Given the description of an element on the screen output the (x, y) to click on. 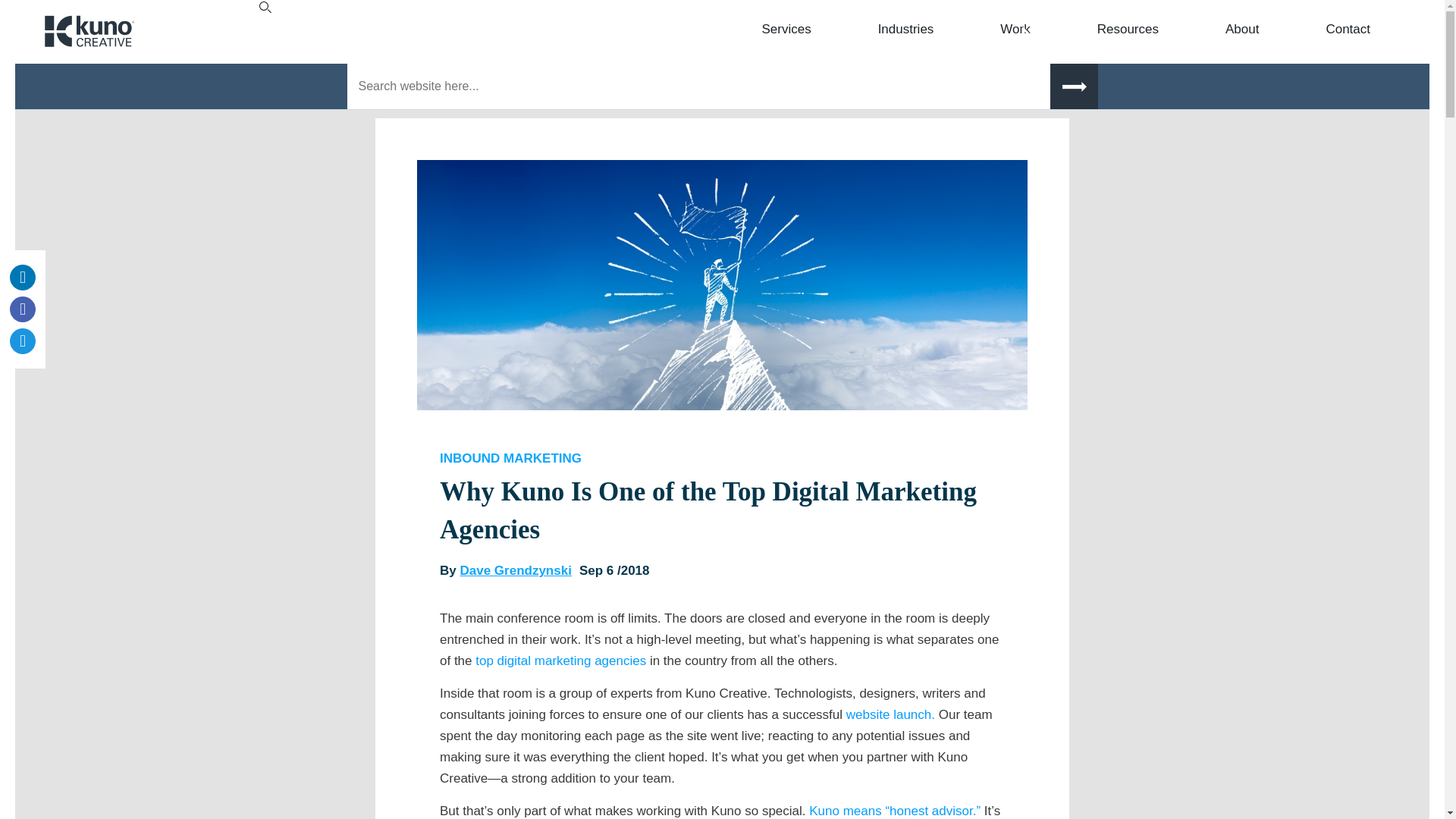
Share on LinkedIn (22, 277)
SUBSCRIBE (1307, 39)
Kuno Creative (89, 31)
Resources (1138, 30)
Tweet (22, 340)
Share on Facebook (22, 309)
Industries (916, 30)
Work (1025, 30)
Services (797, 30)
Contact (1358, 30)
